Given the description of an element on the screen output the (x, y) to click on. 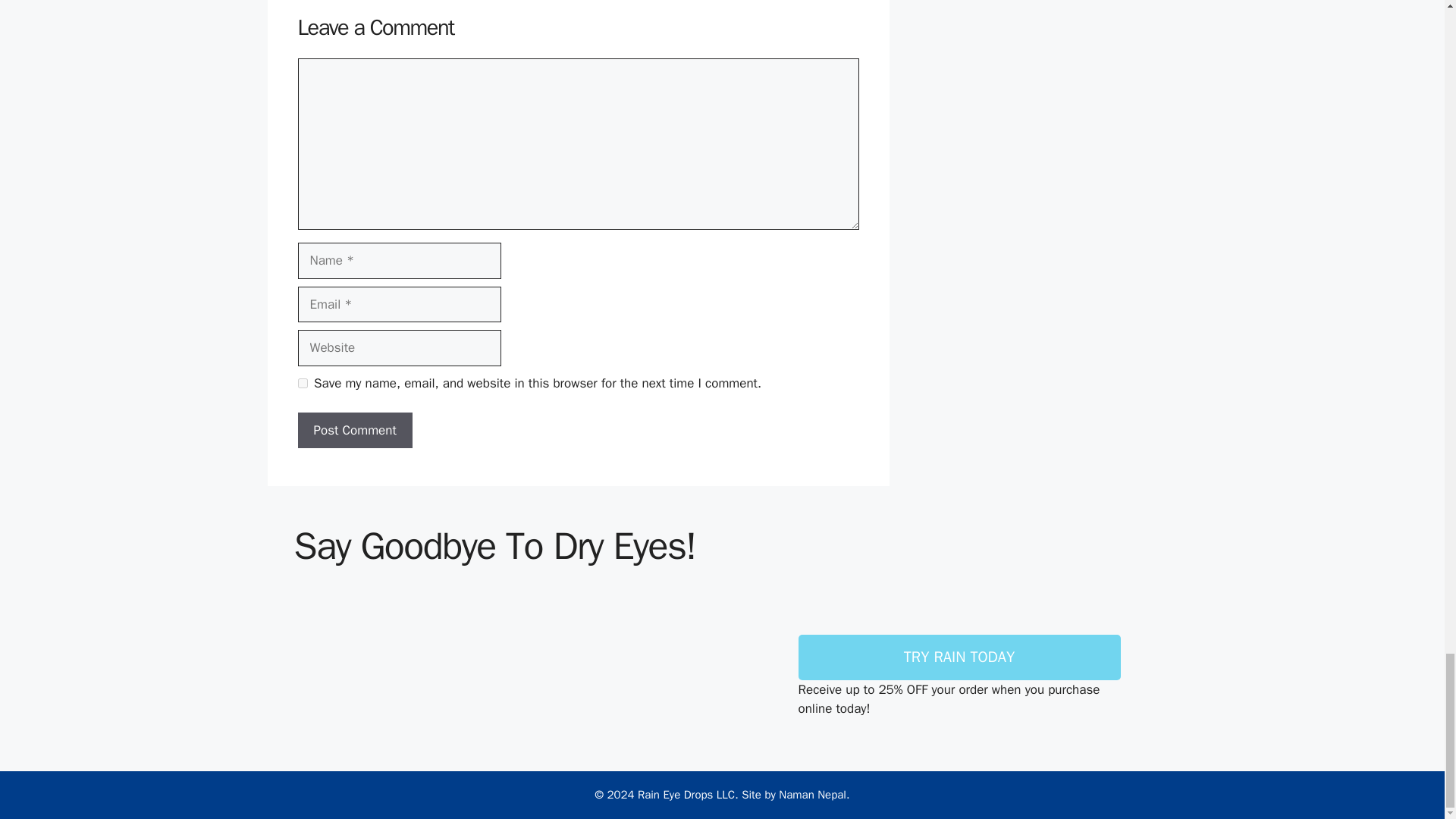
Naman Nepal (811, 794)
Post Comment (354, 430)
TRY RAIN TODAY (958, 657)
Post Comment (354, 430)
yes (302, 383)
